Given the description of an element on the screen output the (x, y) to click on. 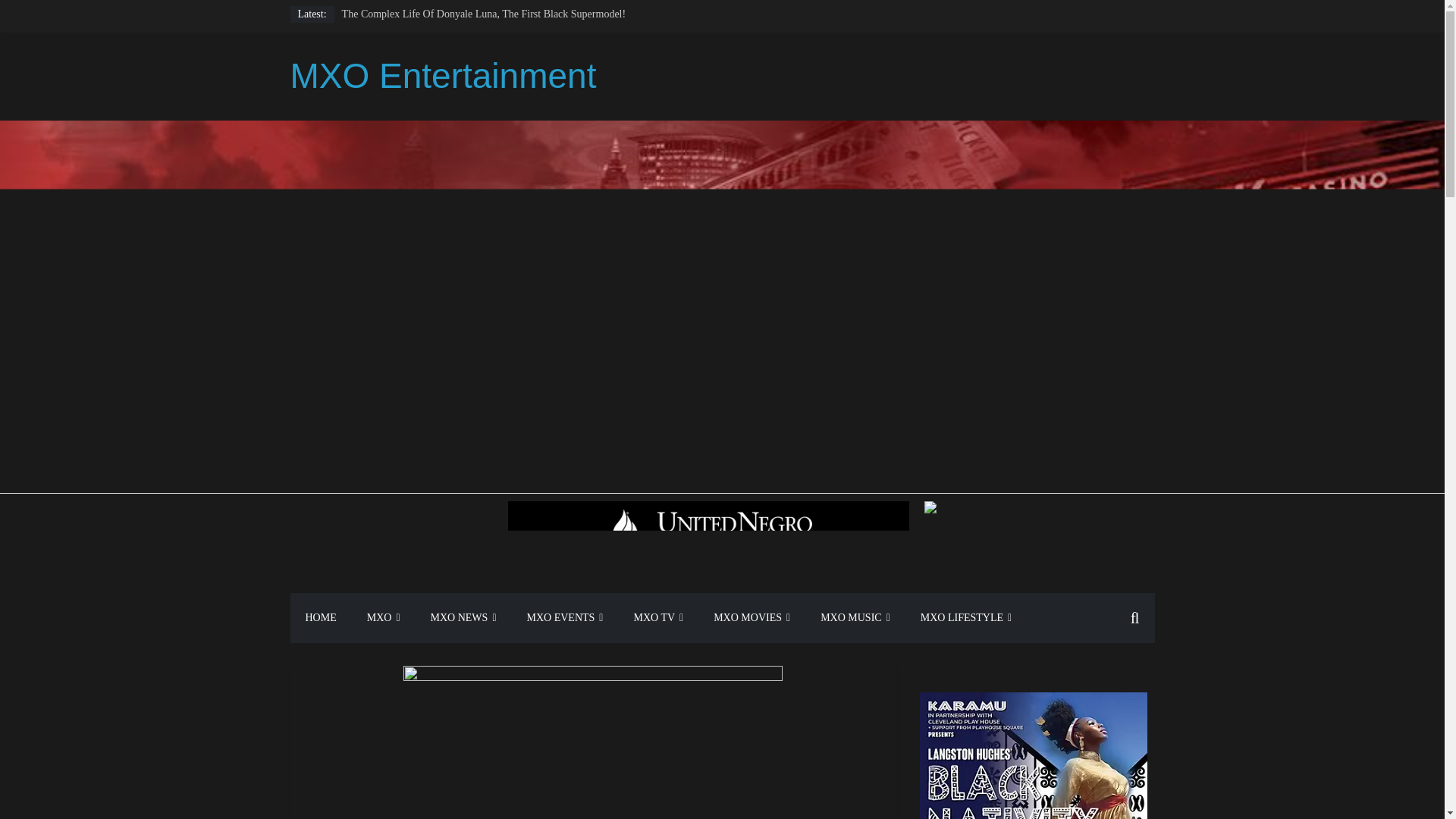
MXO Entertainment (442, 75)
MXO LIFESTYLE (965, 617)
MXO MOVIES (751, 617)
MXO (383, 617)
MXO EVENTS (564, 617)
MXO TV (657, 617)
HOME (319, 617)
MXO NEWS (463, 617)
MXO MUSIC (855, 617)
MXO Entertainment (442, 75)
